Given the description of an element on the screen output the (x, y) to click on. 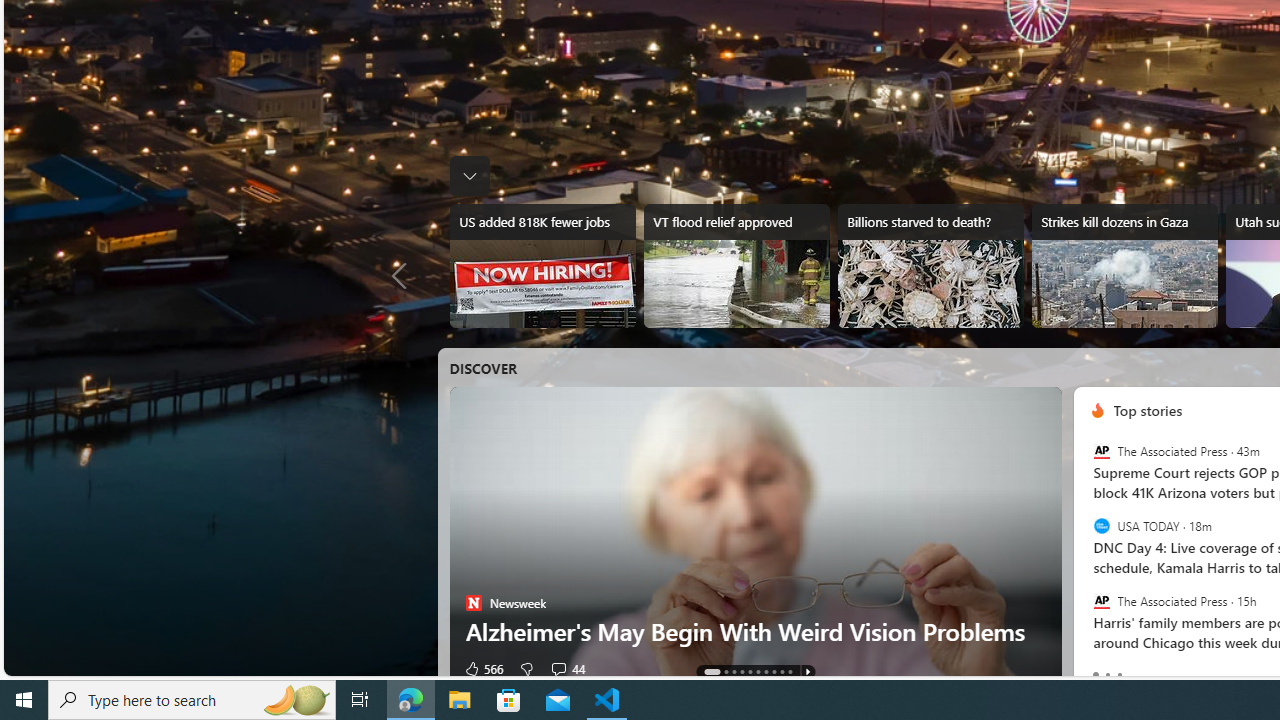
View comments 44 Comment (566, 668)
USA TODAY (1101, 525)
Dislike (525, 668)
tab-1 (1106, 674)
VT flood relief approved (735, 265)
